Given the description of an element on the screen output the (x, y) to click on. 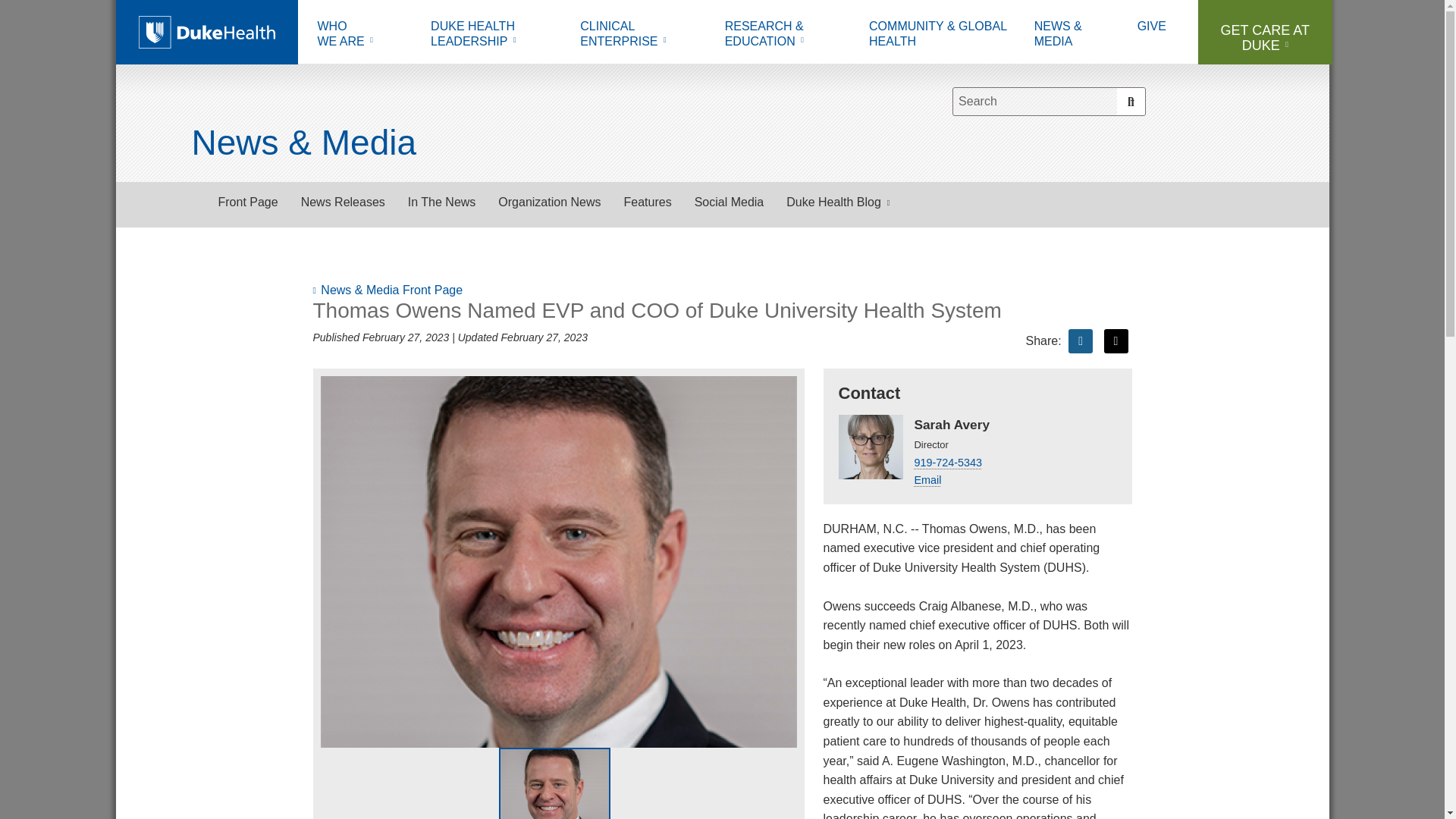
DUKE HEALTH LEADERSHIP (494, 35)
CLINICAL ENTERPRISE (362, 35)
